Given the description of an element on the screen output the (x, y) to click on. 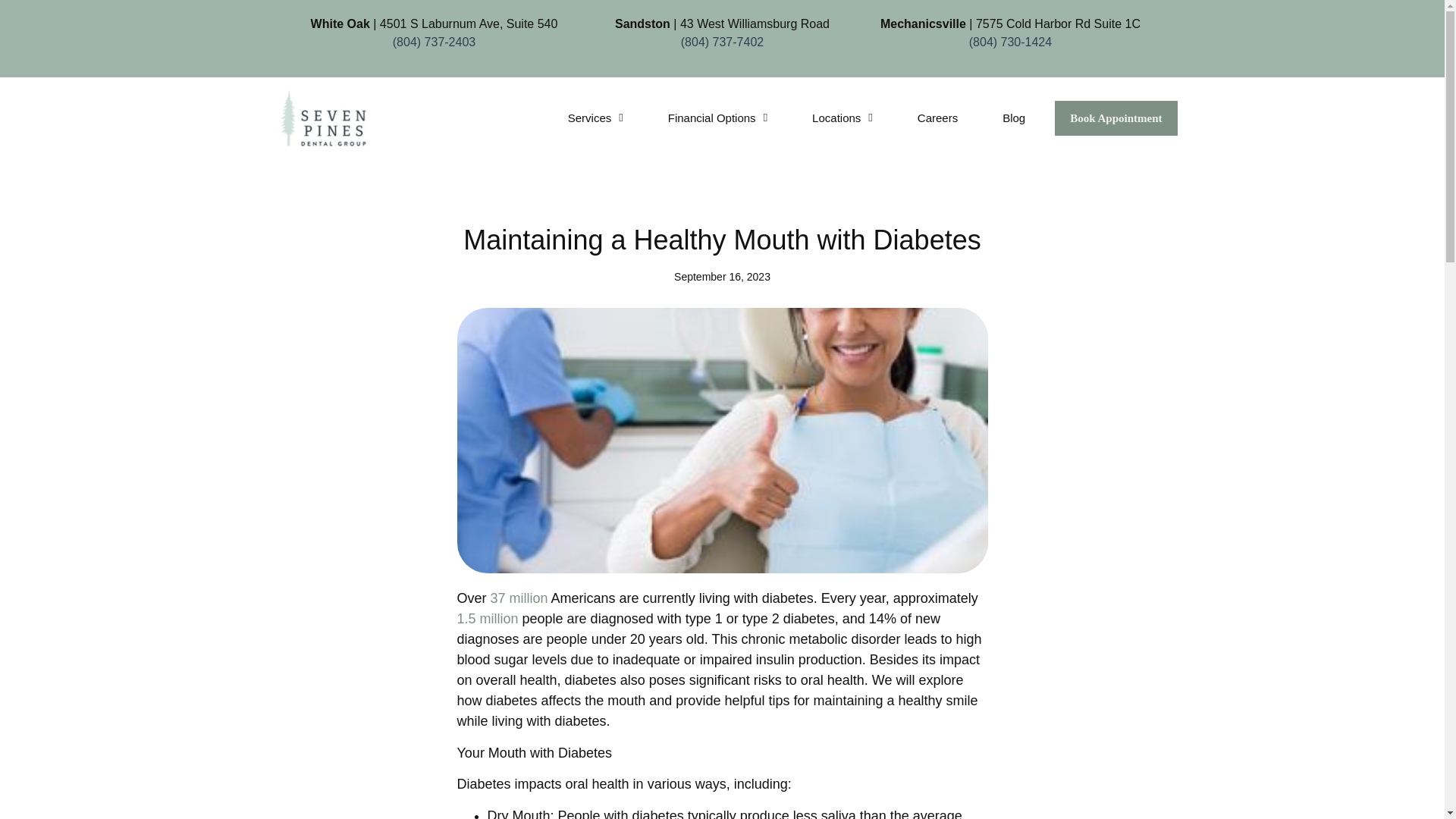
Book Appointment (1115, 117)
37 million (519, 598)
Blog (1014, 117)
Careers (937, 117)
1.5 million (487, 618)
Locations (842, 117)
Financial Options (717, 117)
Services (596, 117)
